Given the description of an element on the screen output the (x, y) to click on. 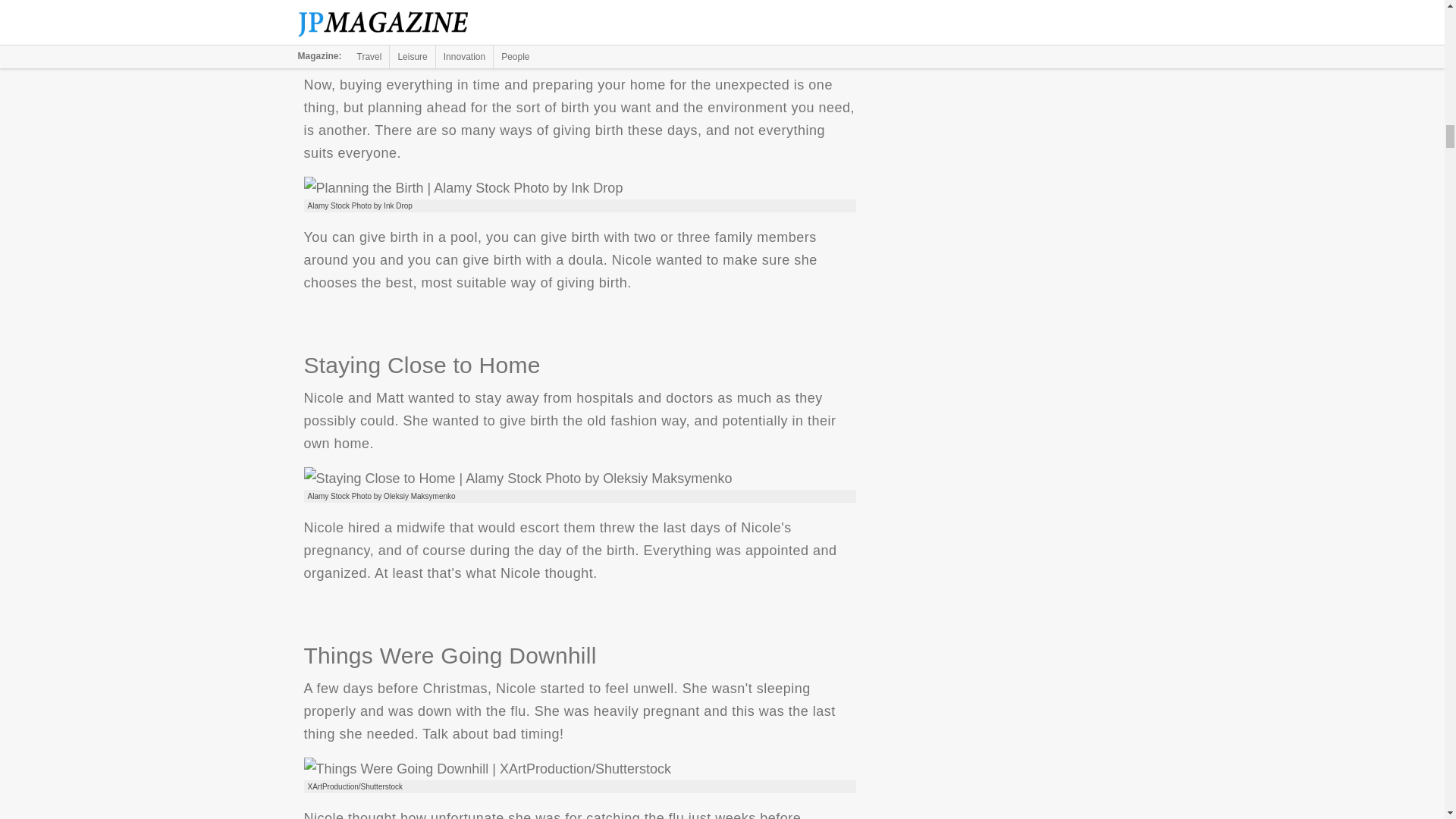
Staying Close to Home (517, 477)
Planning the Birth (462, 187)
Things Were Going Downhill (486, 768)
